Given the description of an element on the screen output the (x, y) to click on. 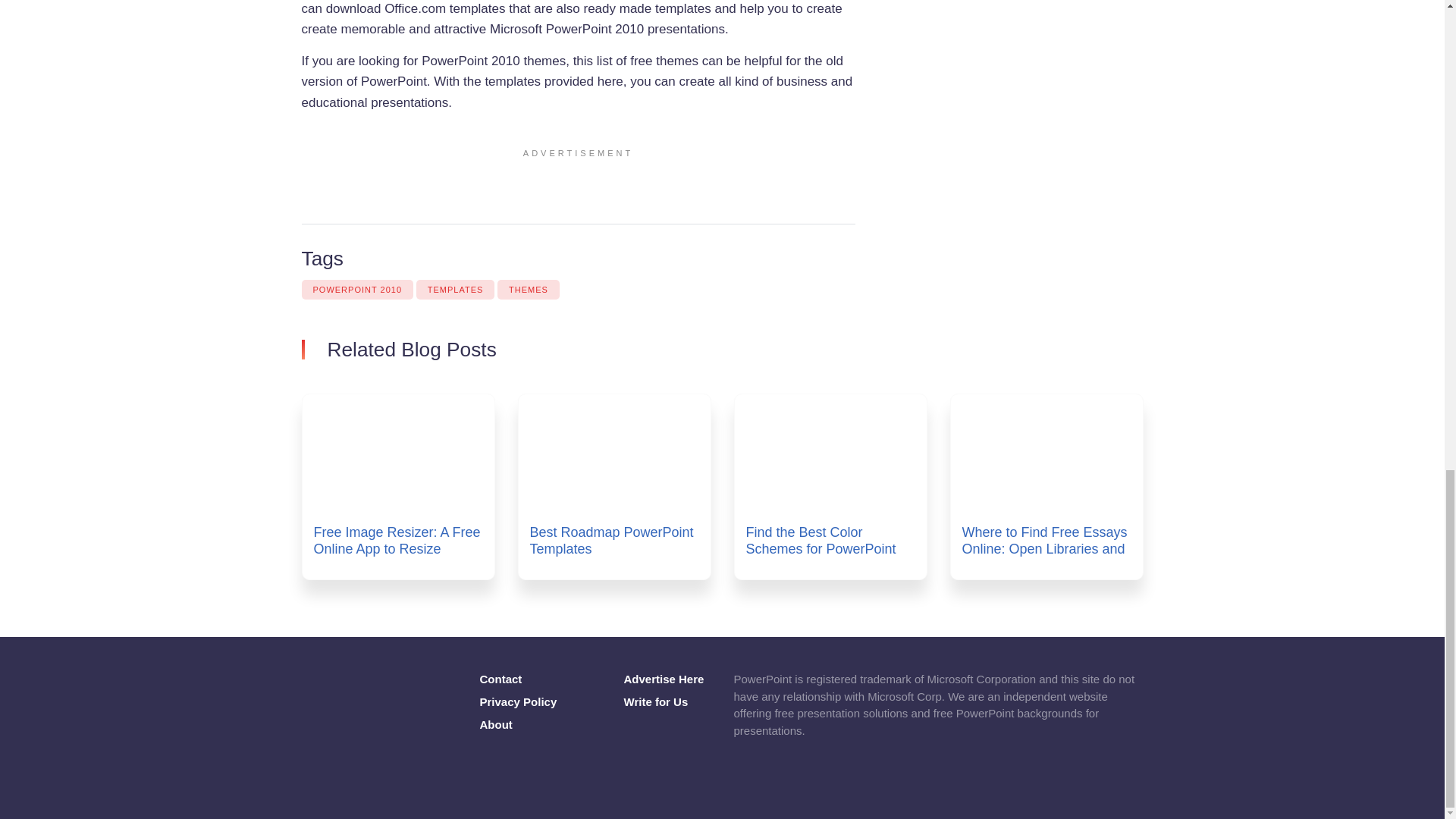
POWERPOINT 2010 (357, 289)
THEMES (528, 289)
TEMPLATES (455, 289)
